Given the description of an element on the screen output the (x, y) to click on. 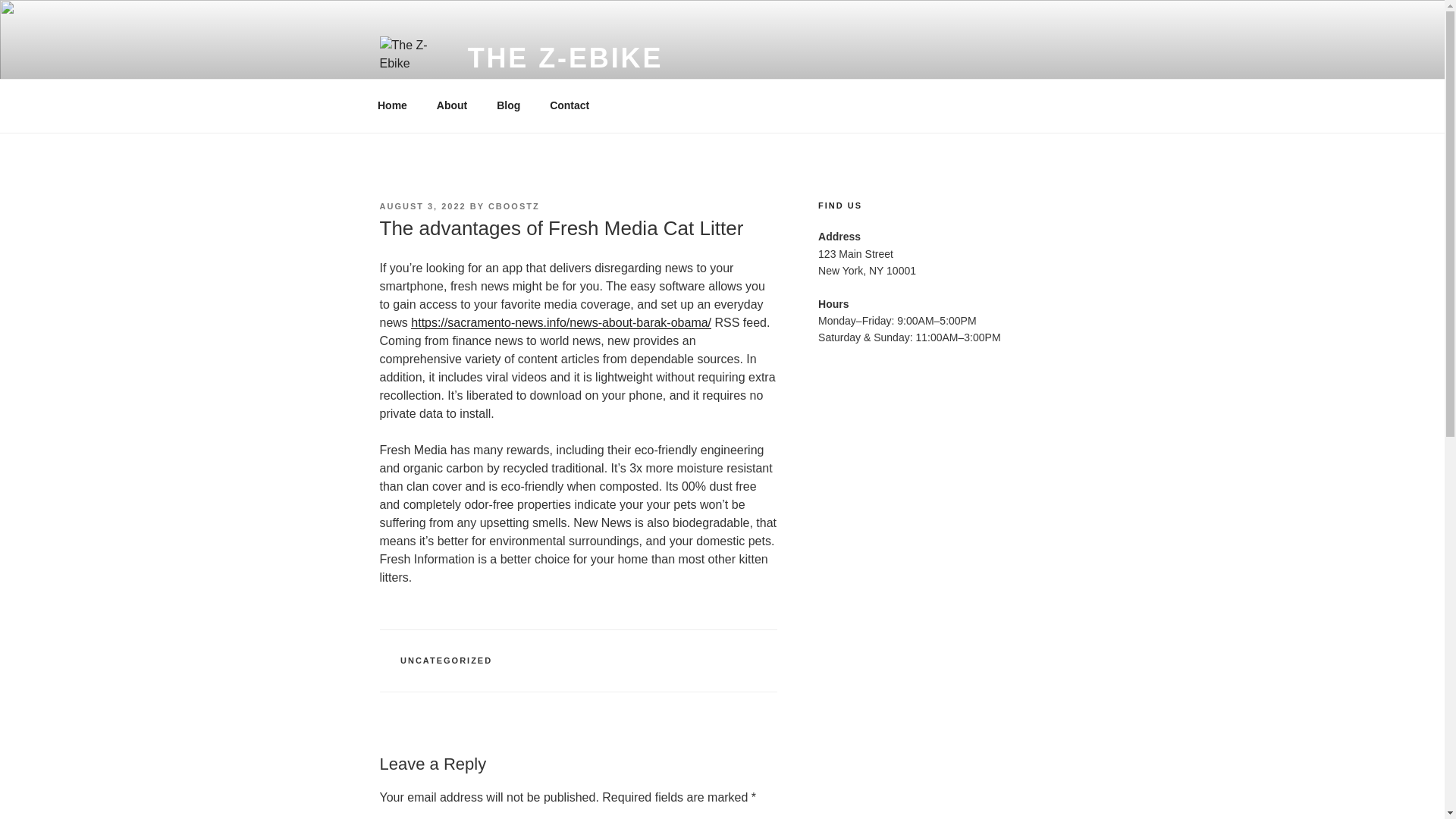
UNCATEGORIZED (446, 660)
CBOOSTZ (513, 205)
Home (392, 105)
Contact (569, 105)
About (451, 105)
THE Z-EBIKE (565, 57)
Blog (508, 105)
AUGUST 3, 2022 (421, 205)
